Given the description of an element on the screen output the (x, y) to click on. 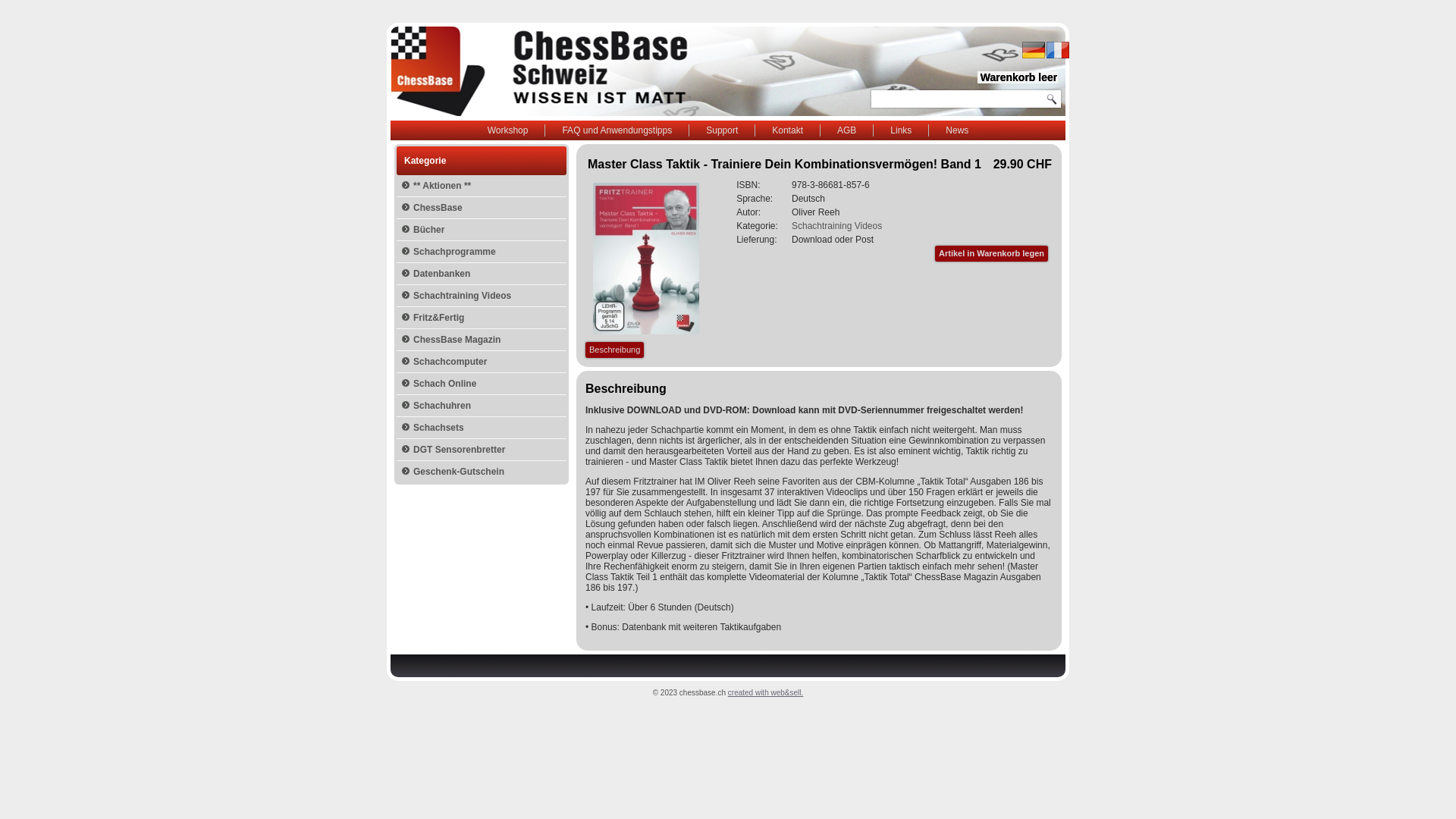
Schachuhren Element type: text (481, 405)
Schachcomputer Element type: text (481, 361)
Geschenk-Gutschein Element type: text (481, 471)
Workshop Element type: text (507, 130)
Schachtraining Videos Element type: text (836, 225)
Deutsch Element type: hover (1033, 49)
Kontakt Element type: text (787, 130)
Links Element type: text (900, 130)
Datenbanken Element type: text (481, 273)
Schachprogramme Element type: text (481, 251)
Beschreibung Element type: text (614, 349)
Schach Online Element type: text (481, 383)
Schachtraining Videos Element type: text (481, 295)
22210 Element type: hover (646, 258)
** Aktionen ** Element type: text (481, 185)
News Element type: text (956, 130)
ChessBase Magazin Element type: text (481, 339)
AGB Element type: text (846, 130)
DGT Sensorenbretter Element type: text (481, 449)
created with web&sell. Element type: text (765, 692)
Support Element type: text (721, 130)
ChessBase Element type: text (481, 207)
Artikel in Warenkorb legen Element type: text (991, 253)
Schachsets Element type: text (481, 427)
Fritz&Fertig Element type: text (481, 317)
FAQ und Anwendungstipps Element type: text (616, 130)
